Given the description of an element on the screen output the (x, y) to click on. 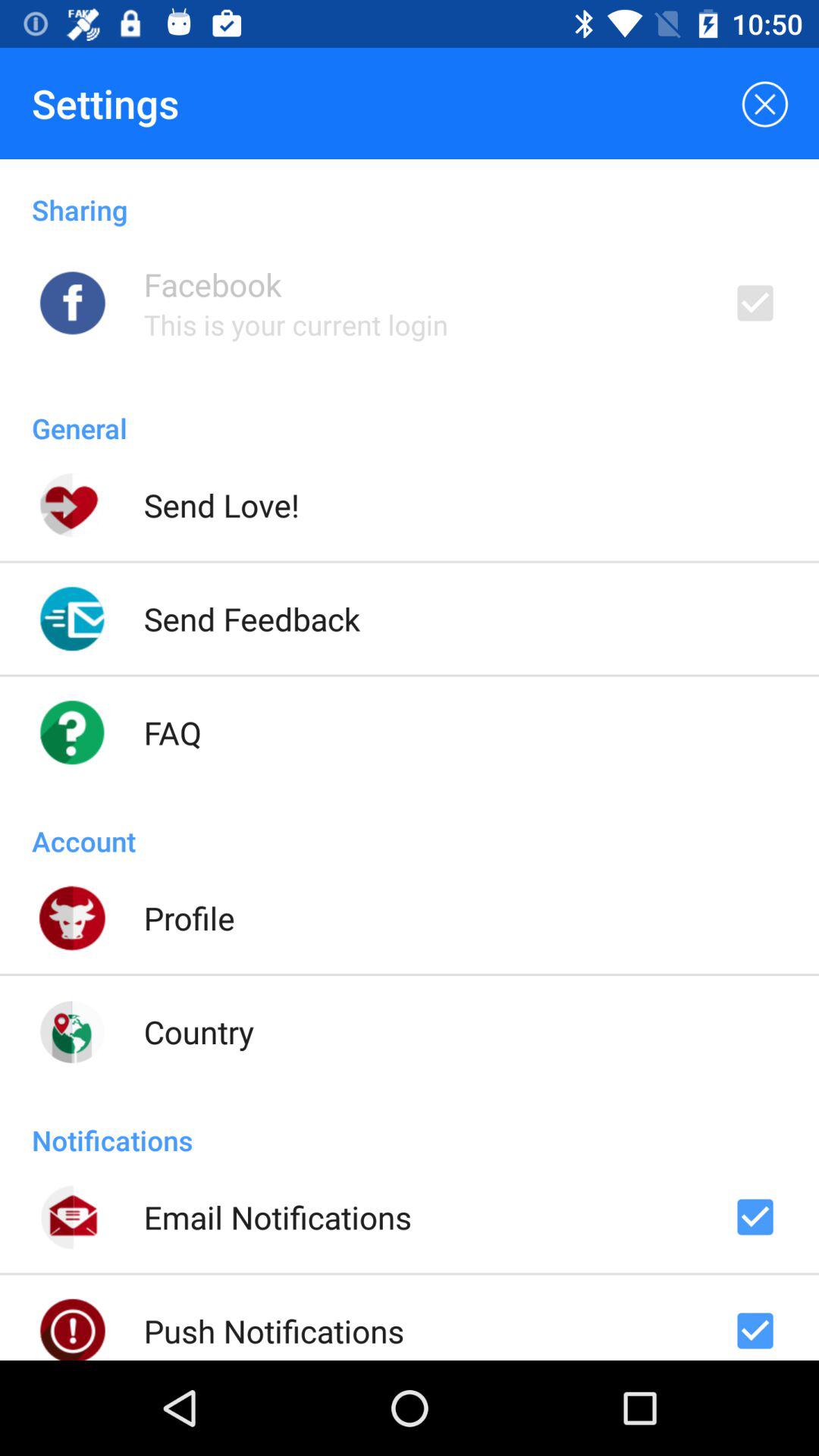
select the item above account item (172, 732)
